Given the description of an element on the screen output the (x, y) to click on. 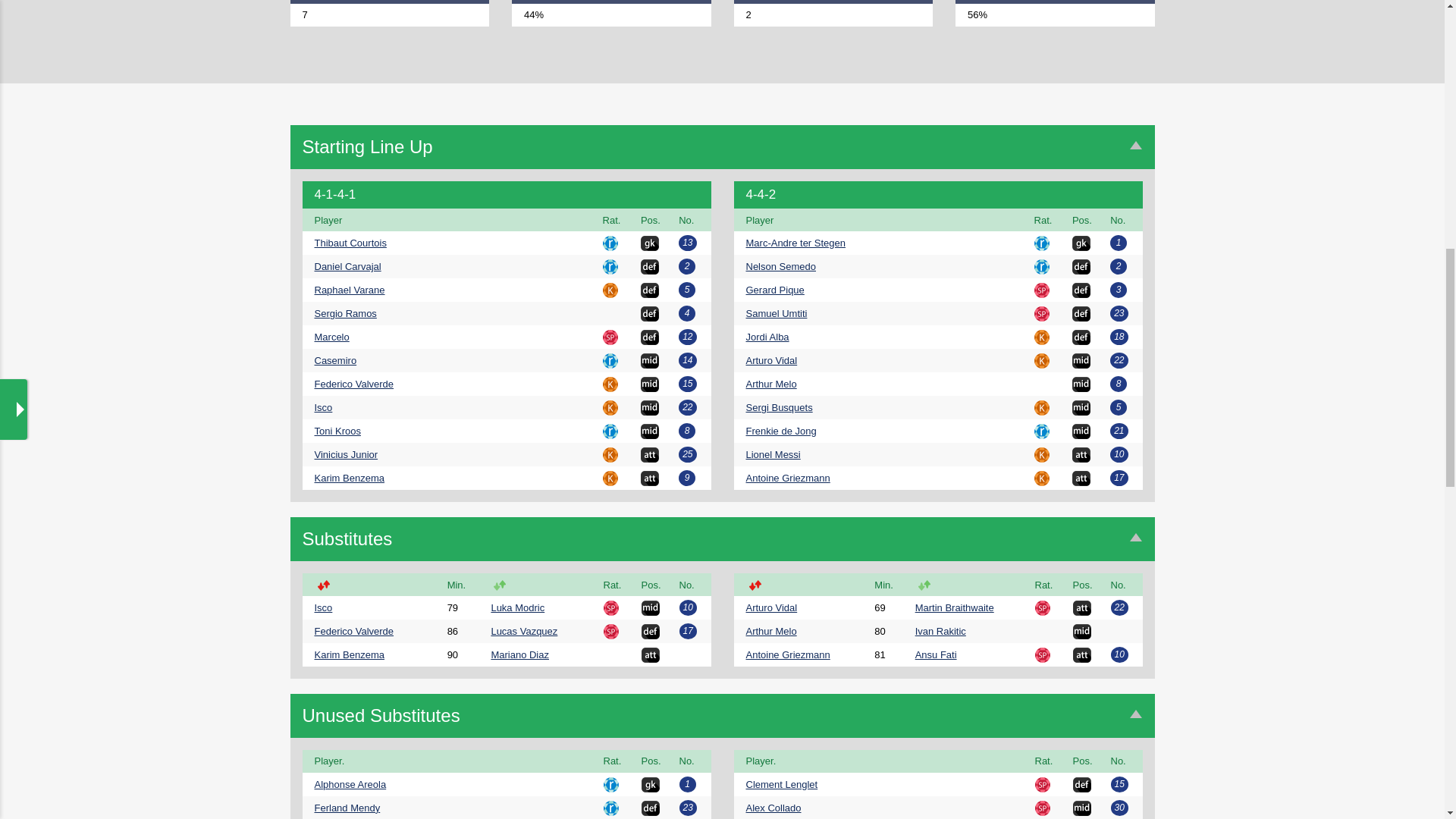
Raphael Varane (349, 289)
Thibaut Courtois (349, 242)
Daniel Carvajal (347, 266)
